Given the description of an element on the screen output the (x, y) to click on. 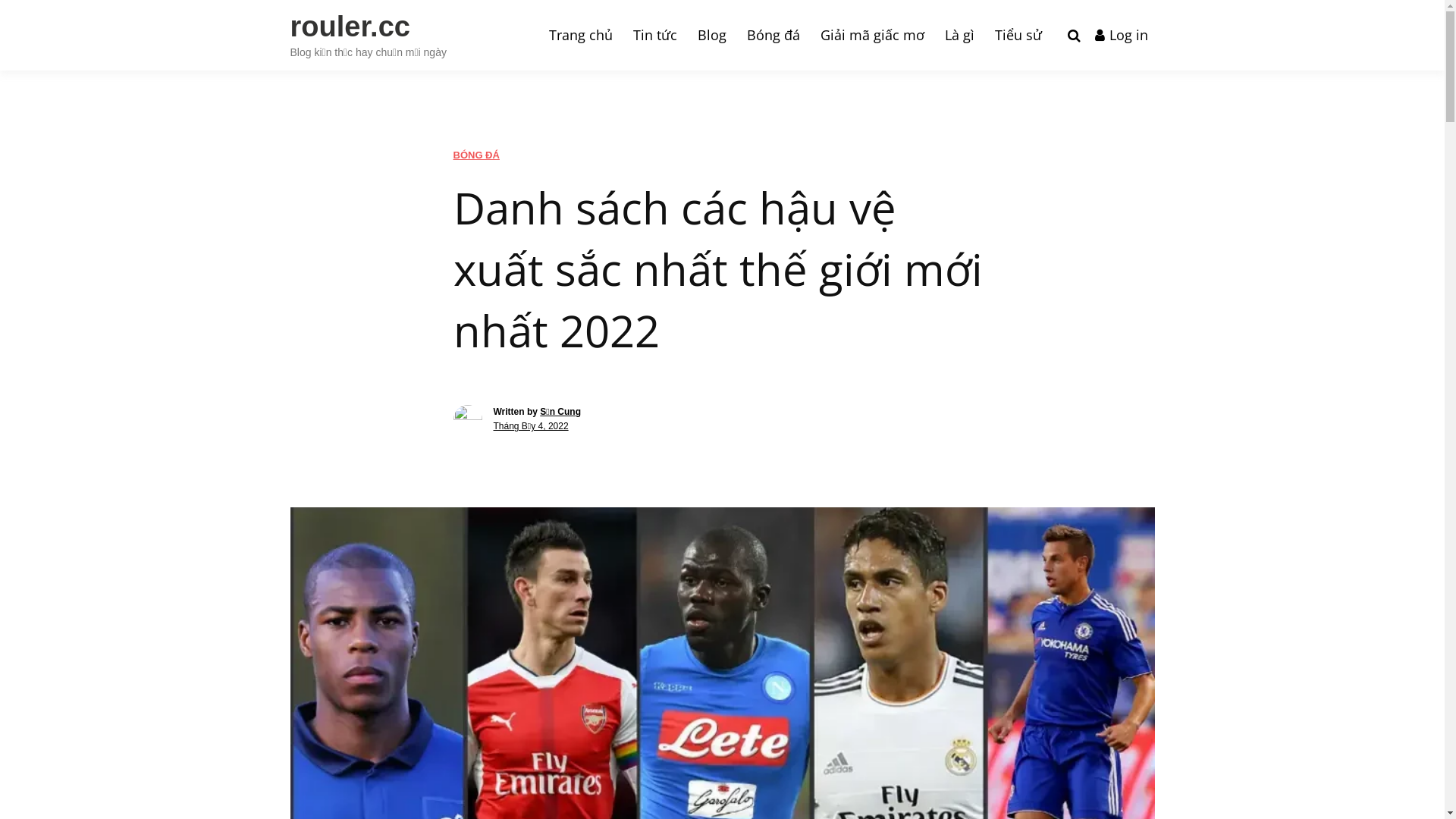
rouler.cc Element type: text (349, 26)
Blog Element type: text (711, 34)
Skip to content Element type: text (0, 0)
Log in Element type: text (1120, 35)
